Given the description of an element on the screen output the (x, y) to click on. 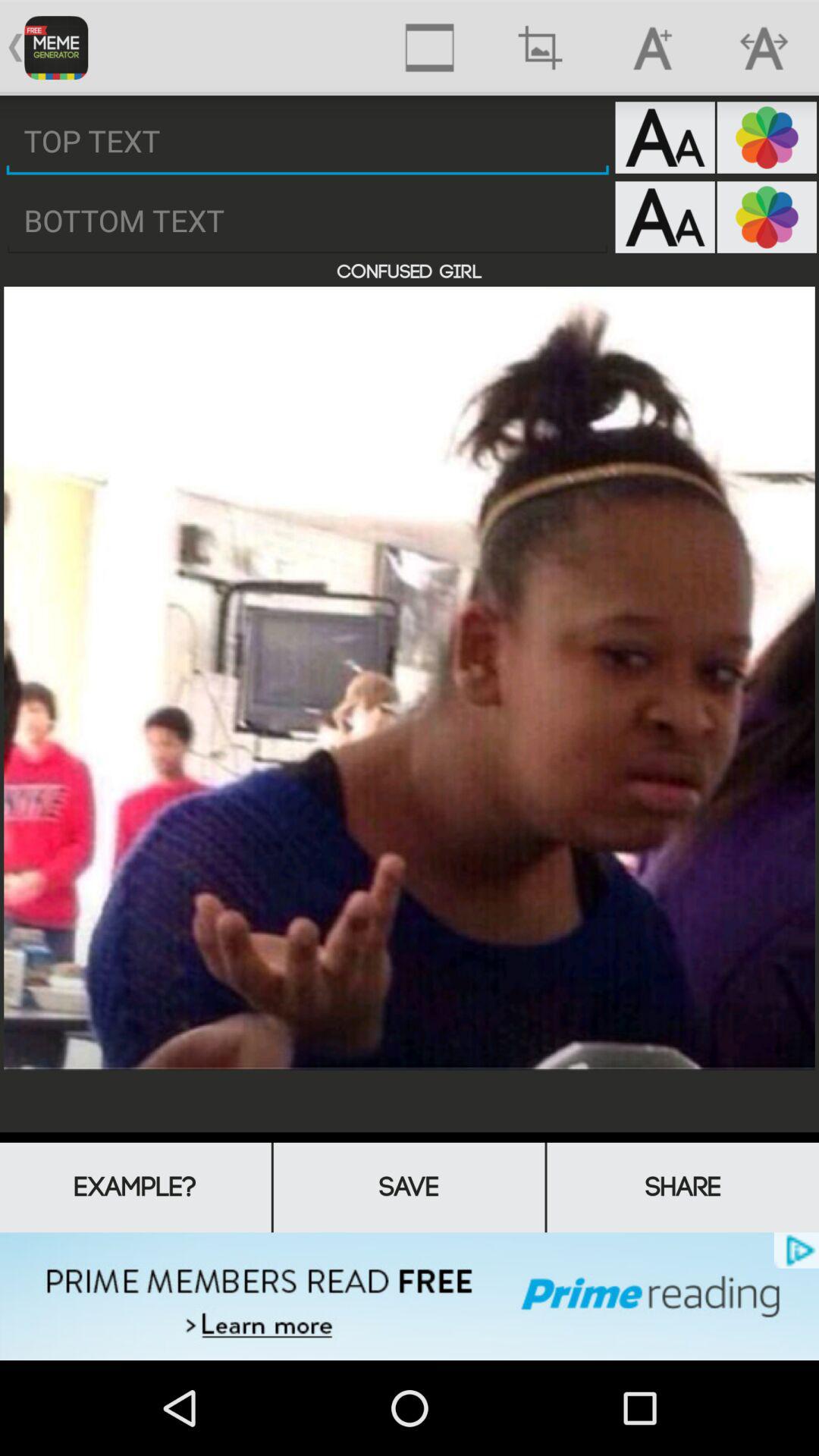
click to enter text (307, 221)
